Given the description of an element on the screen output the (x, y) to click on. 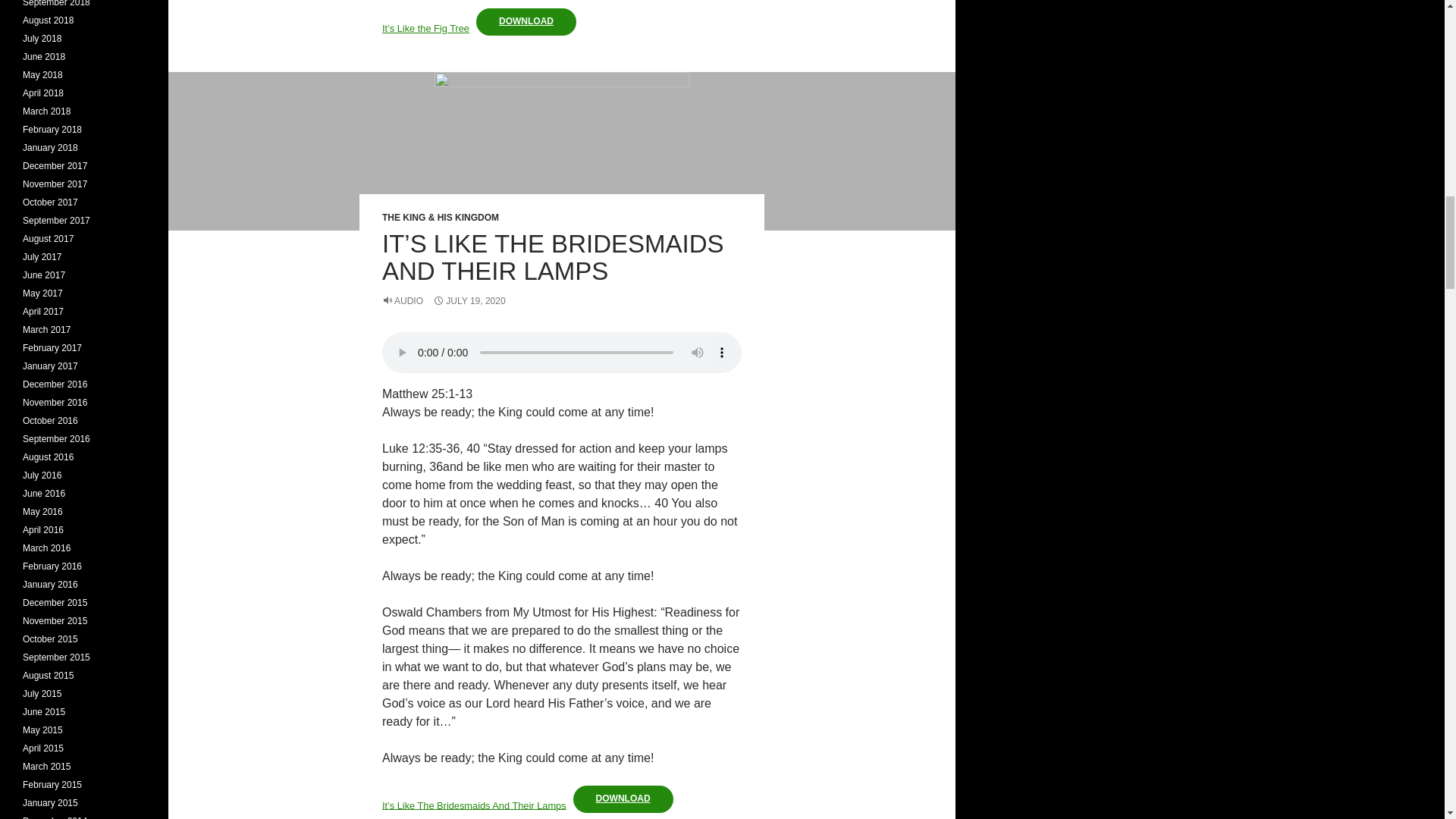
AUDIO (402, 300)
DOWNLOAD (622, 799)
DOWNLOAD (526, 22)
JULY 19, 2020 (468, 300)
